Given the description of an element on the screen output the (x, y) to click on. 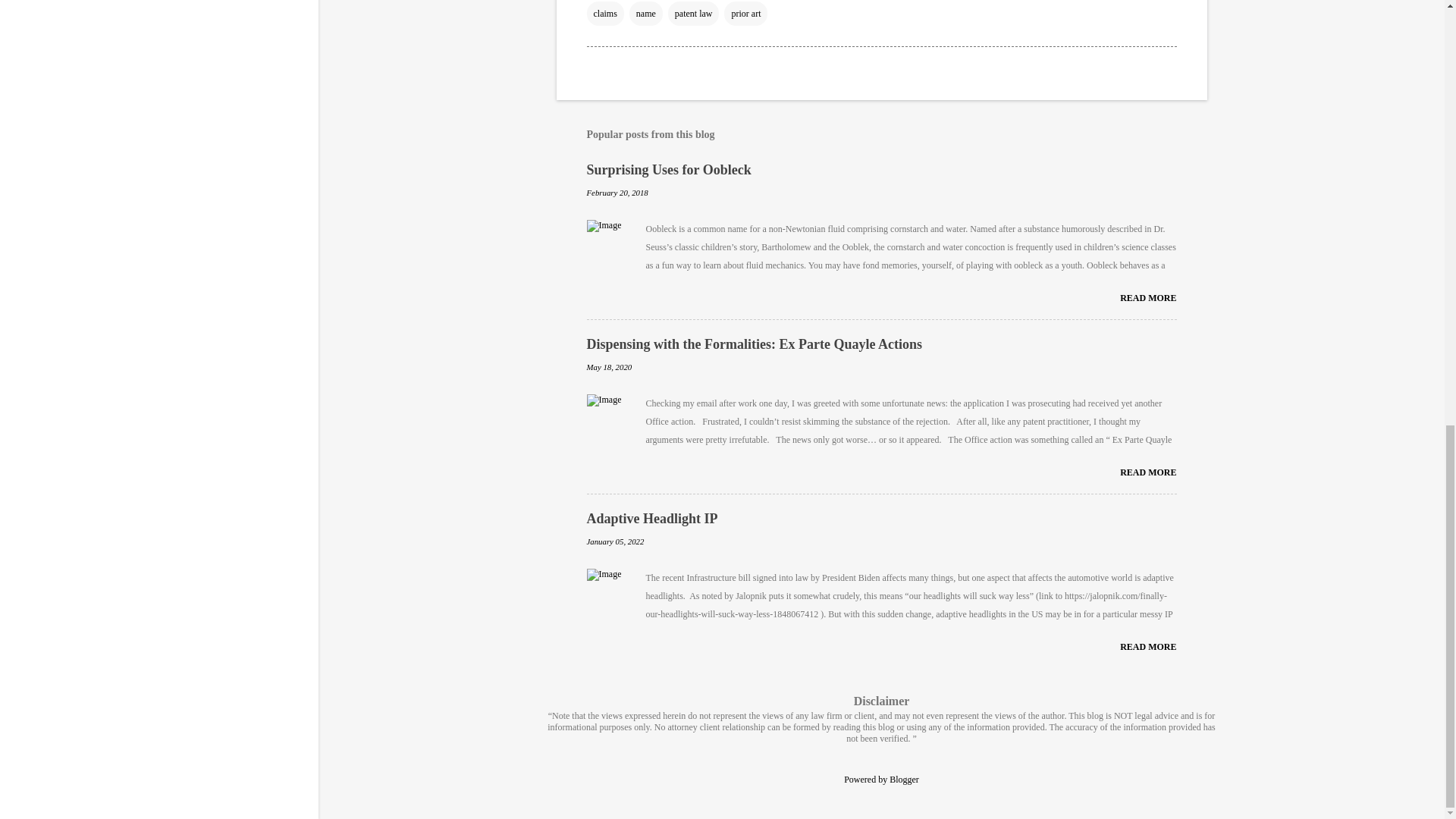
Dispensing with the Formalities: Ex Parte Quayle Actions (1147, 471)
READ MORE (1147, 646)
permanent link (608, 366)
permanent link (616, 192)
patent law (693, 13)
claims (605, 13)
READ MORE (1147, 471)
READ MORE (1147, 297)
permanent link (615, 541)
February 20, 2018 (616, 192)
